Given the description of an element on the screen output the (x, y) to click on. 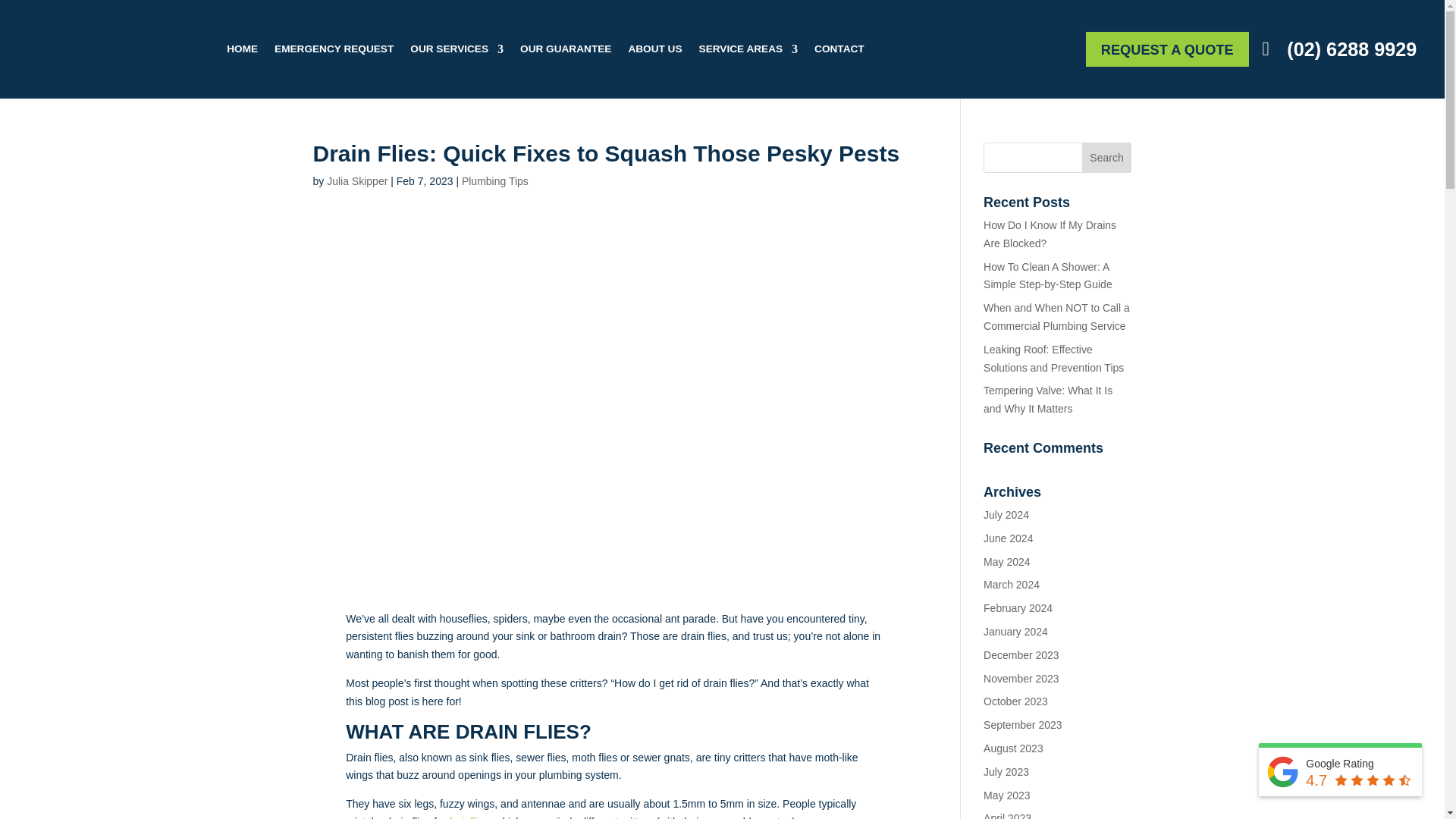
EMERGENCY REQUEST (334, 48)
SERVICE AREAS (747, 48)
Search (1106, 157)
OUR GUARANTEE (565, 48)
Posts by Julia Skipper (356, 181)
ABOUT US (654, 48)
OUR SERVICES (456, 48)
